Given the description of an element on the screen output the (x, y) to click on. 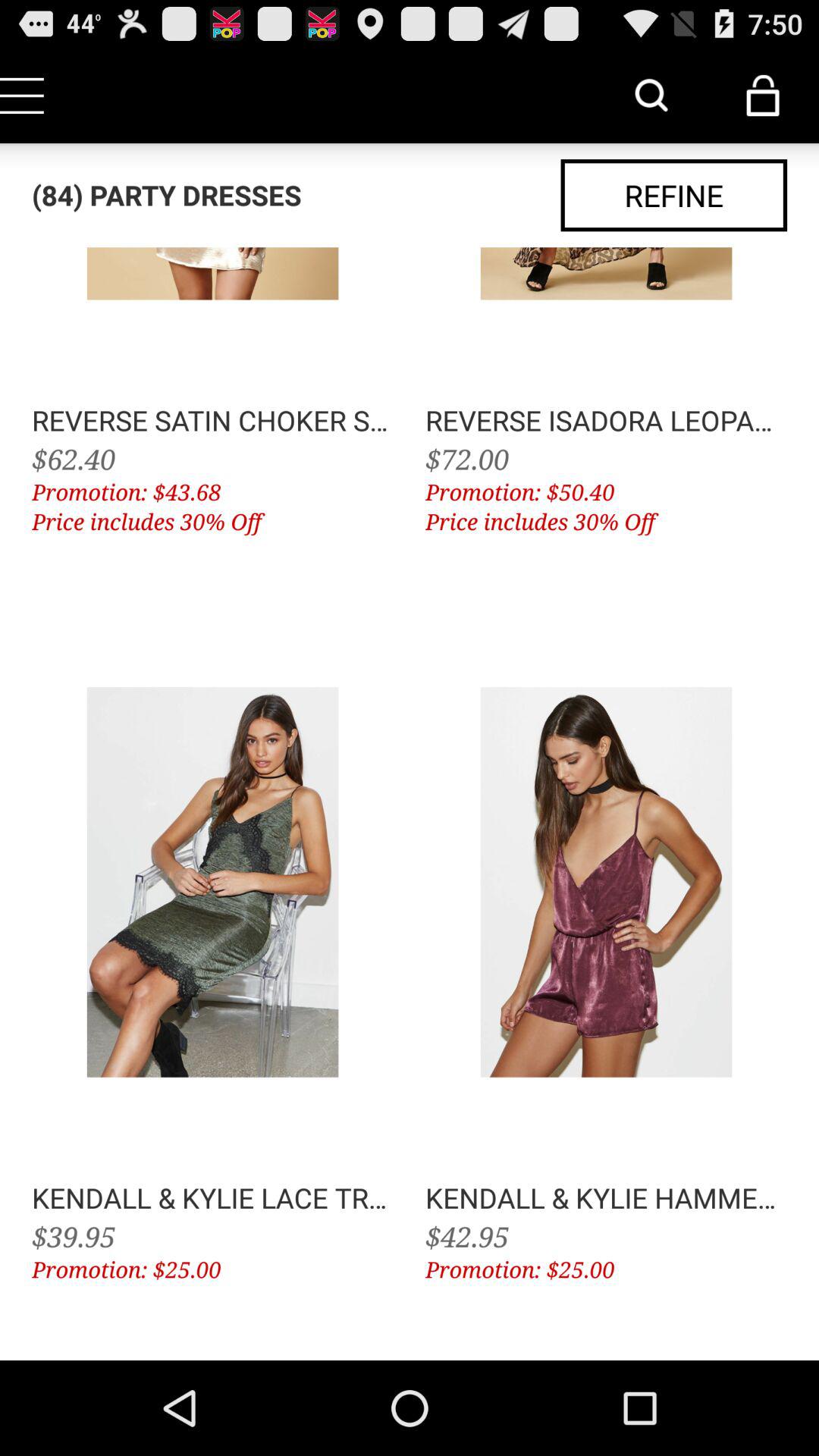
press app next to (84) party dresses item (673, 195)
